Given the description of an element on the screen output the (x, y) to click on. 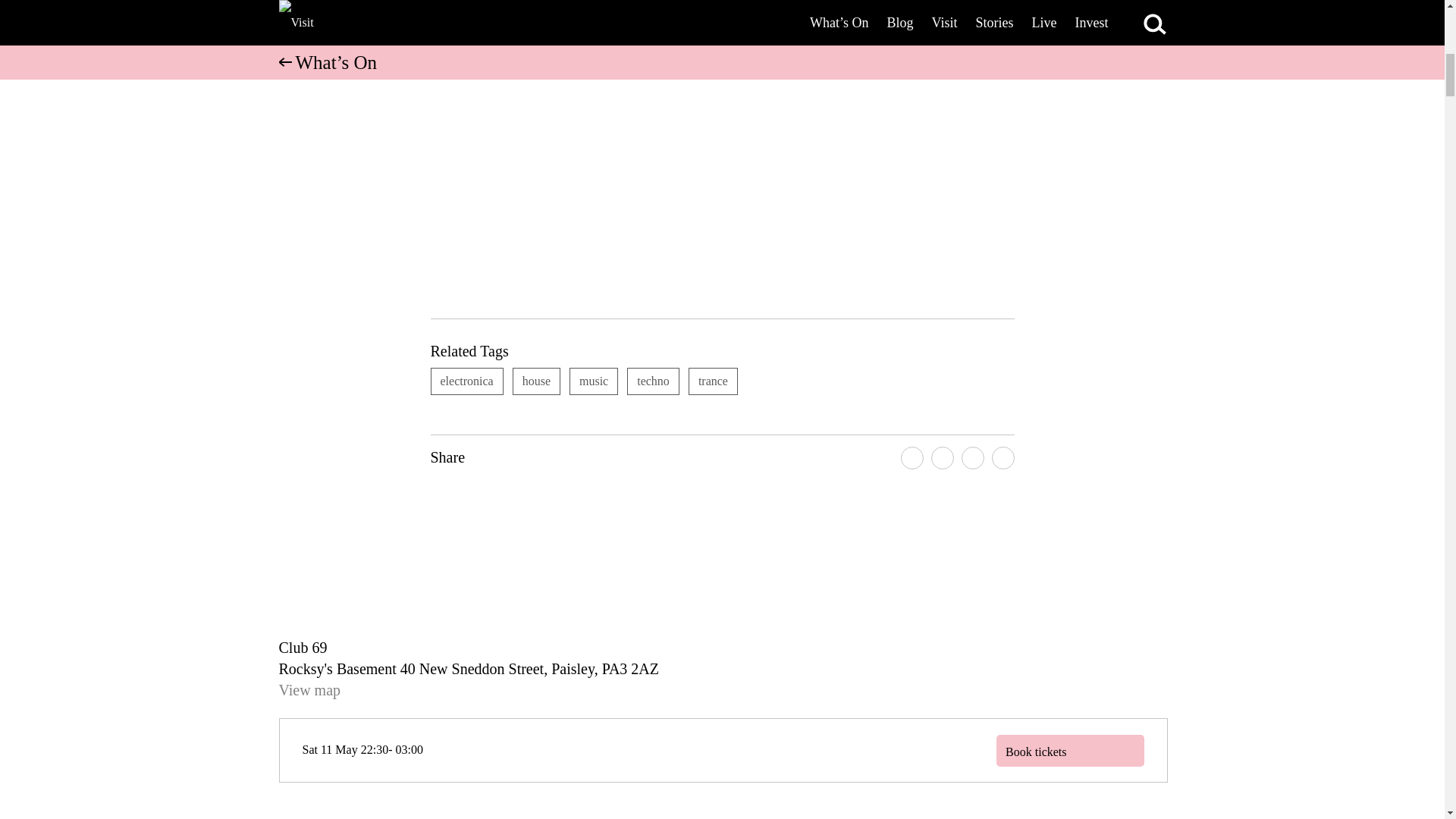
techno (653, 380)
View map (309, 689)
Book tickets (1068, 750)
trance (713, 380)
music (593, 380)
house (536, 380)
electronica (466, 380)
